Given the description of an element on the screen output the (x, y) to click on. 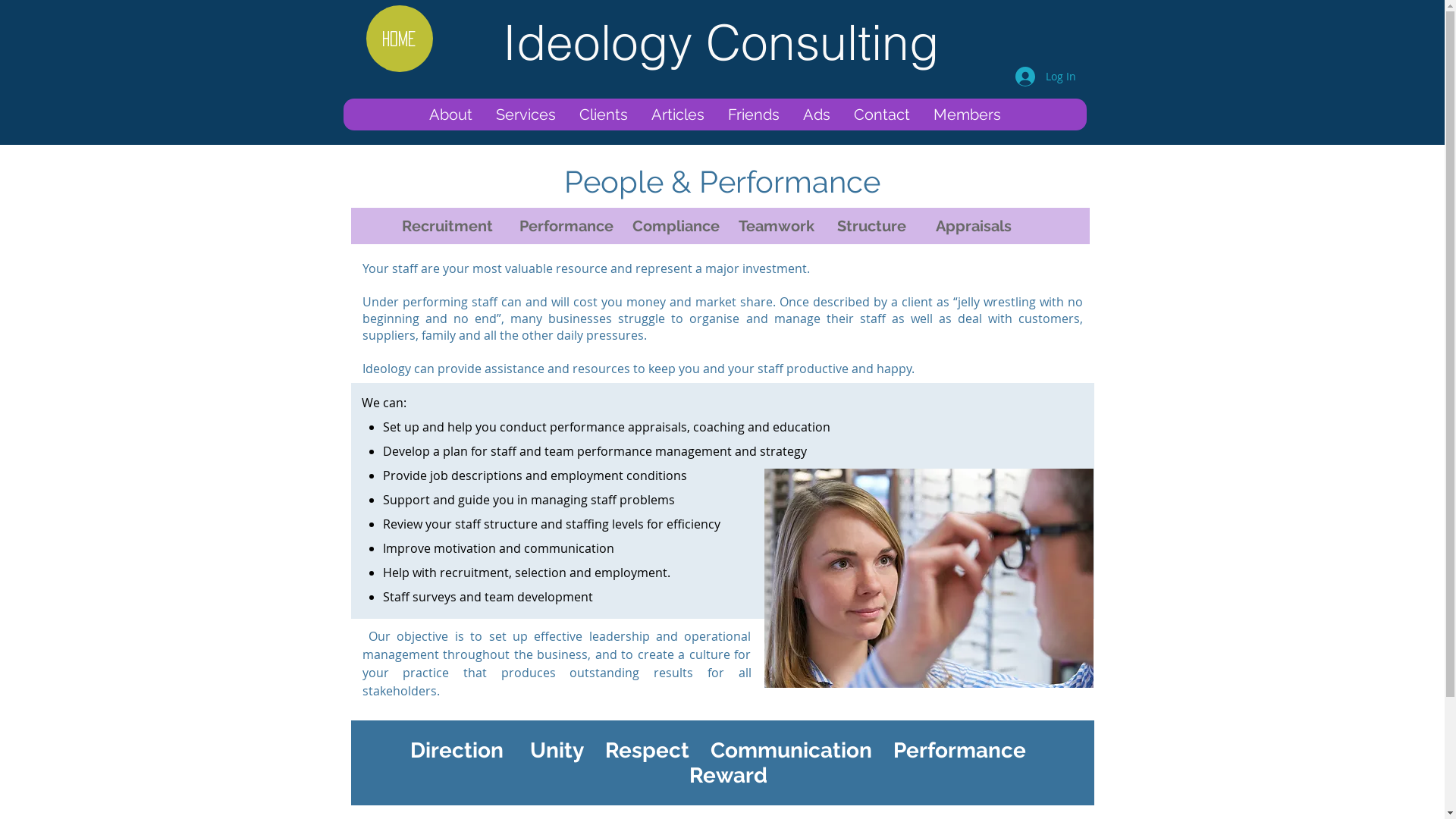
Contact Element type: text (881, 114)
Ads Element type: text (815, 114)
About Element type: text (450, 114)
Members Element type: text (966, 114)
Services Element type: text (525, 114)
Friends Element type: text (752, 114)
HOME Element type: text (398, 38)
Articles Element type: text (677, 114)
Clients Element type: text (603, 114)
Log In Element type: text (1044, 76)
